Given the description of an element on the screen output the (x, y) to click on. 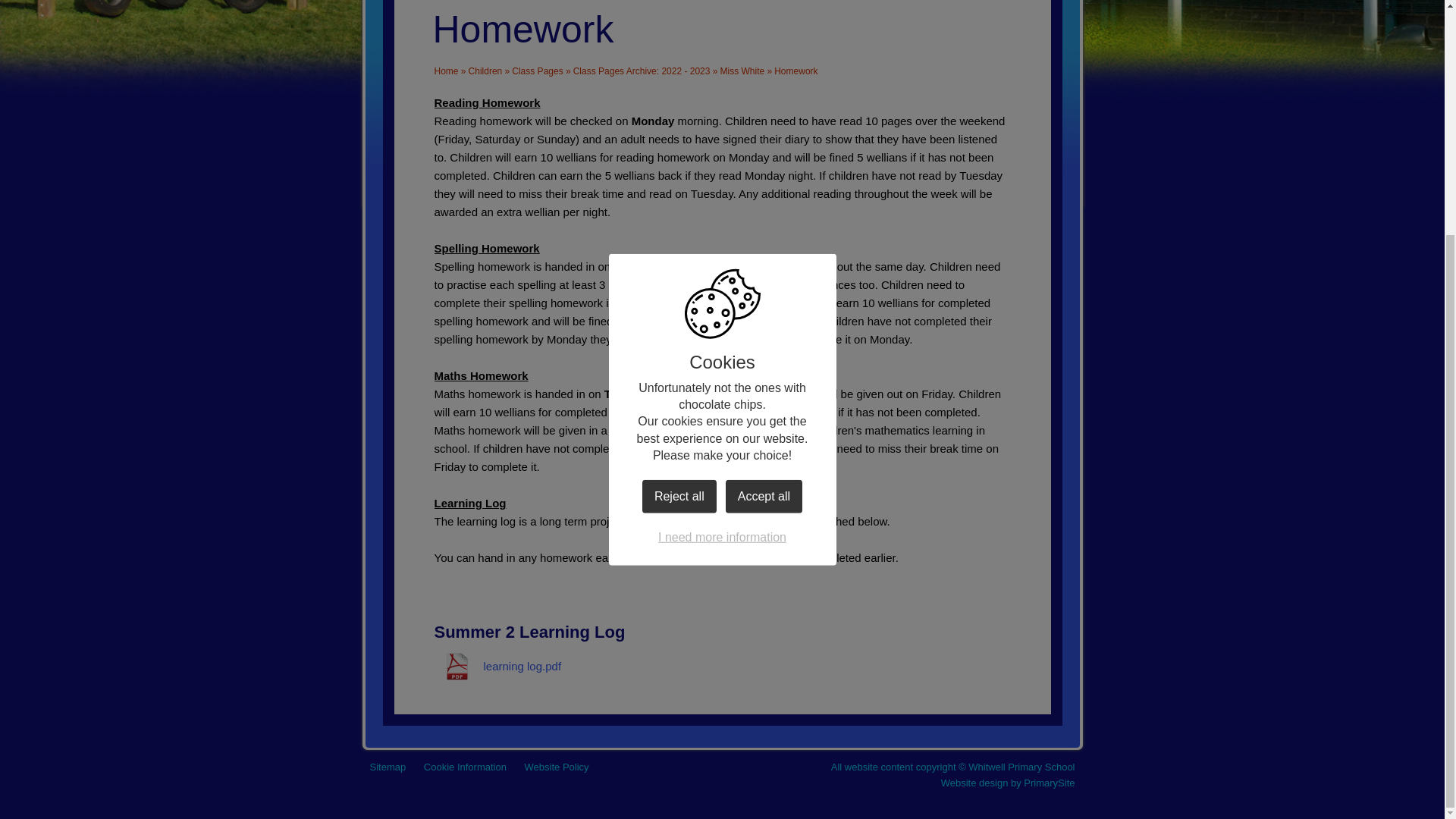
Homework (795, 71)
Miss White (742, 71)
Class Pages (537, 71)
Children (485, 71)
Class Pages Archive: 2022 - 2023 (641, 71)
learning log.pdf (496, 666)
Home (445, 71)
